Given the description of an element on the screen output the (x, y) to click on. 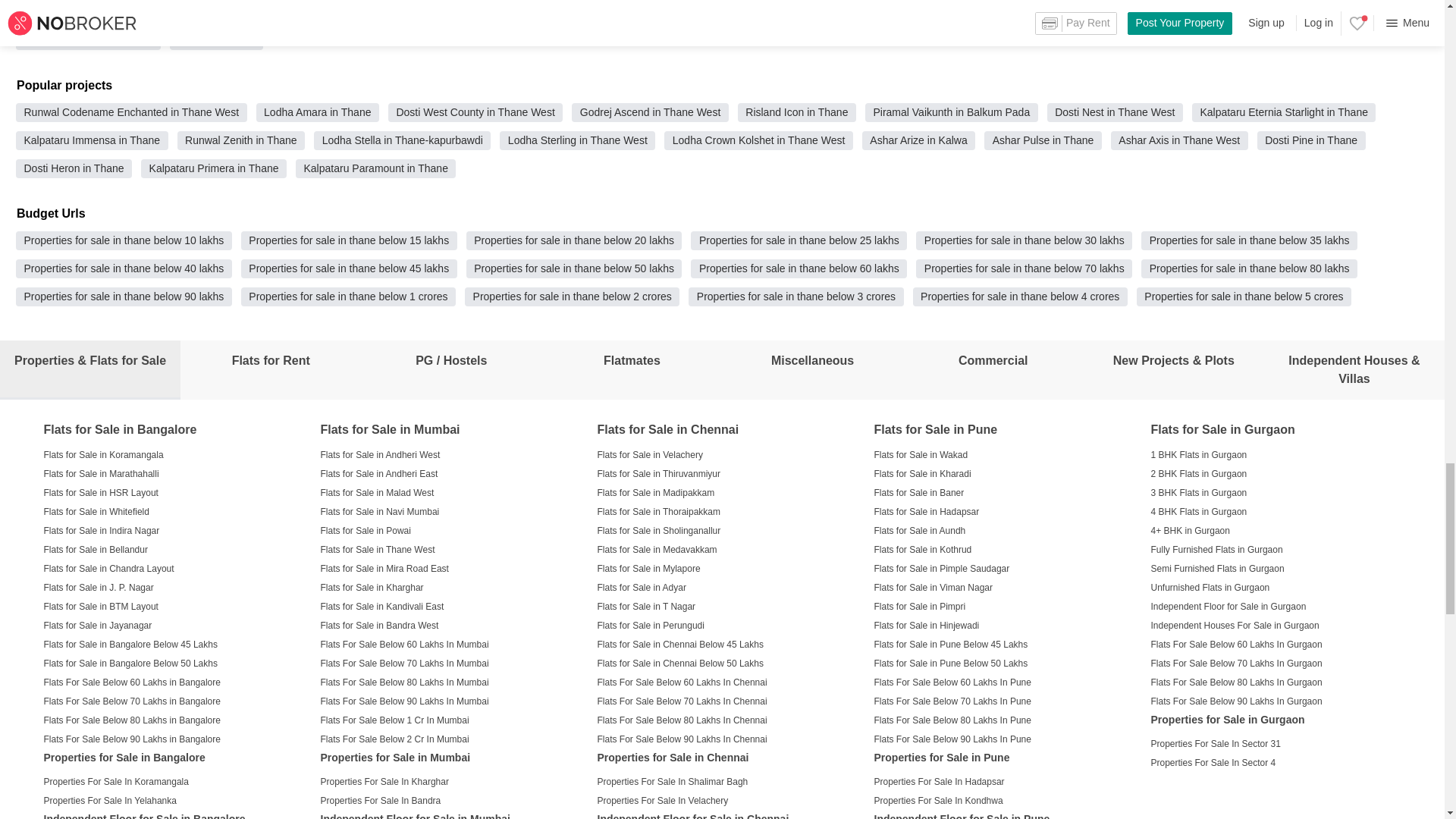
Flats for Sale in Marathahalli (100, 473)
Flats for Sale in Indira Nagar (101, 530)
Flats for Sale in Whitefield (96, 511)
Flats For Sale Below 70 Lakhs in Bangalore (132, 701)
Flats for Sale in Bangalore Below 45 Lakhs (129, 643)
Flats for Sale in Bangalore Below 50 Lakhs (129, 663)
Flats for Sale in Jayanagar (97, 625)
Flats for Sale in Bangalore (119, 429)
Flats For Sale Below 90 Lakhs in Bangalore (132, 739)
Flats for Sale in BTM Layout (100, 605)
 House Rent App (216, 39)
Flats For Sale Below 80 Lakhs in Bangalore (132, 719)
Flats for Sale in J. P. Nagar (98, 587)
Flats for Sale in Chandra Layout (108, 567)
Flats for Sale in Bellandur (95, 549)
